Given the description of an element on the screen output the (x, y) to click on. 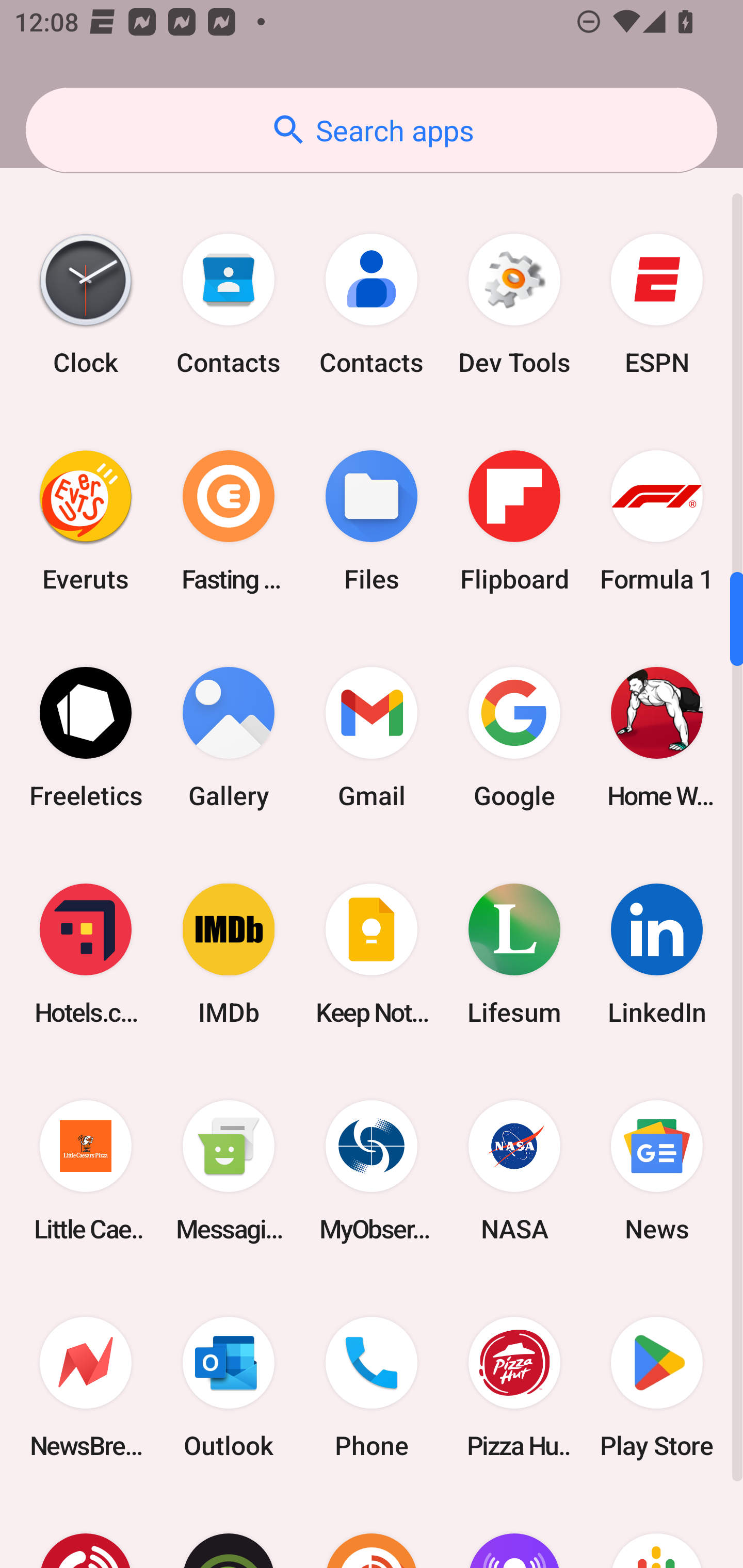
  Search apps (371, 130)
Clock (85, 304)
Contacts (228, 304)
Contacts (371, 304)
Dev Tools (514, 304)
ESPN (656, 304)
Everuts (85, 520)
Fasting Coach (228, 520)
Files (371, 520)
Flipboard (514, 520)
Formula 1 (656, 520)
Freeletics (85, 736)
Gallery (228, 736)
Gmail (371, 736)
Google (514, 736)
Home Workout (656, 736)
Hotels.com (85, 954)
IMDb (228, 954)
Keep Notes (371, 954)
Lifesum (514, 954)
LinkedIn (656, 954)
Little Caesars Pizza (85, 1171)
Messaging (228, 1171)
MyObservatory (371, 1171)
NASA (514, 1171)
News (656, 1171)
NewsBreak (85, 1387)
Outlook (228, 1387)
Phone (371, 1387)
Pizza Hut HK & Macau (514, 1387)
Play Store (656, 1387)
